Given the description of an element on the screen output the (x, y) to click on. 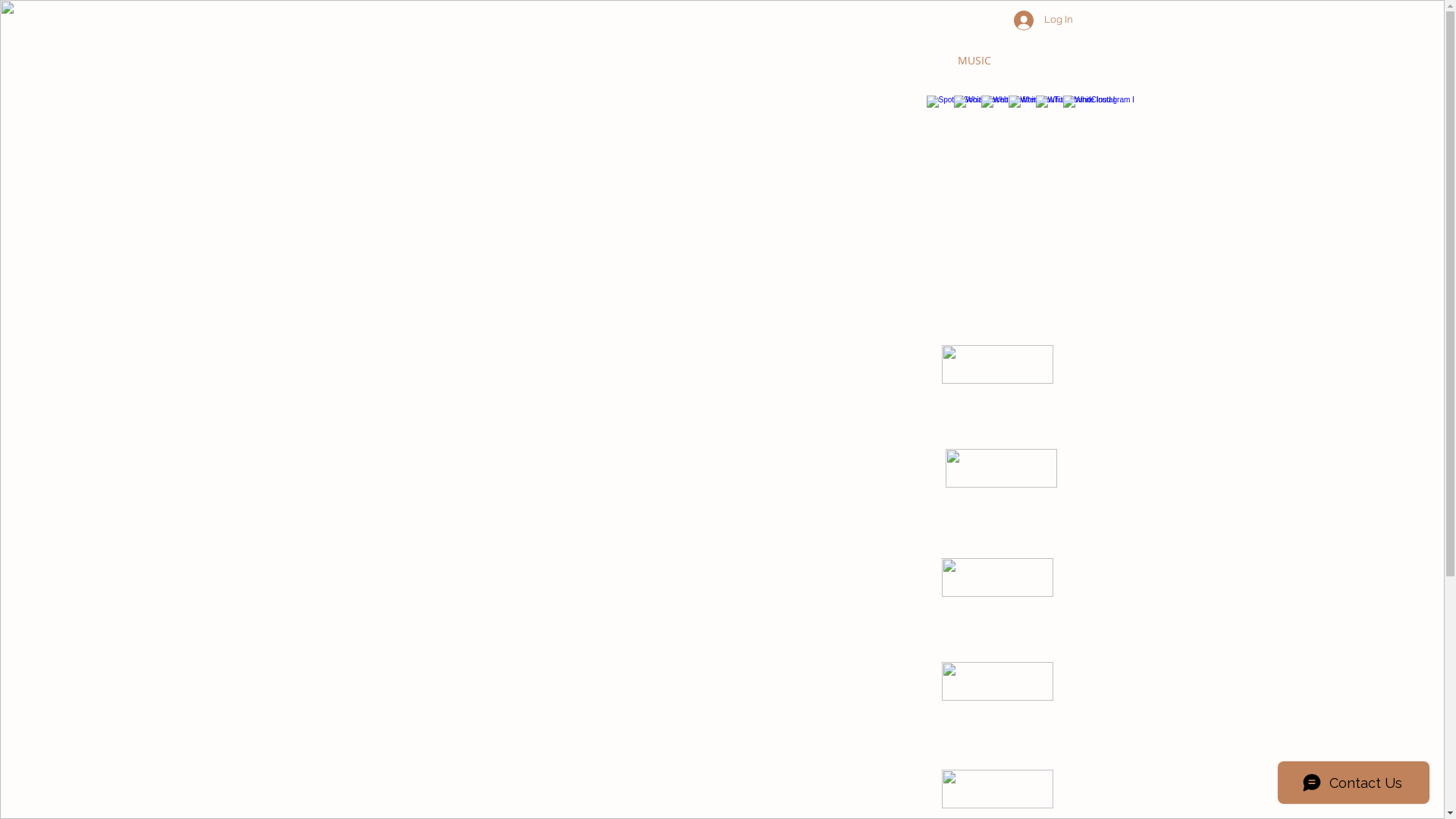
Log In Element type: text (1042, 20)
SoundCloud Player Element type: hover (717, 756)
VIDEOS Element type: text (1025, 60)
SoundCloud Player Element type: hover (722, 335)
Helen Rae Element type: text (803, 60)
SoundCloud Player Element type: hover (717, 548)
SoundCloud Player Element type: hover (717, 652)
SoundCloud Player Element type: hover (722, 439)
MUSIC Element type: text (973, 60)
Book Online Element type: text (910, 60)
BIO Element type: text (855, 60)
